Given the description of an element on the screen output the (x, y) to click on. 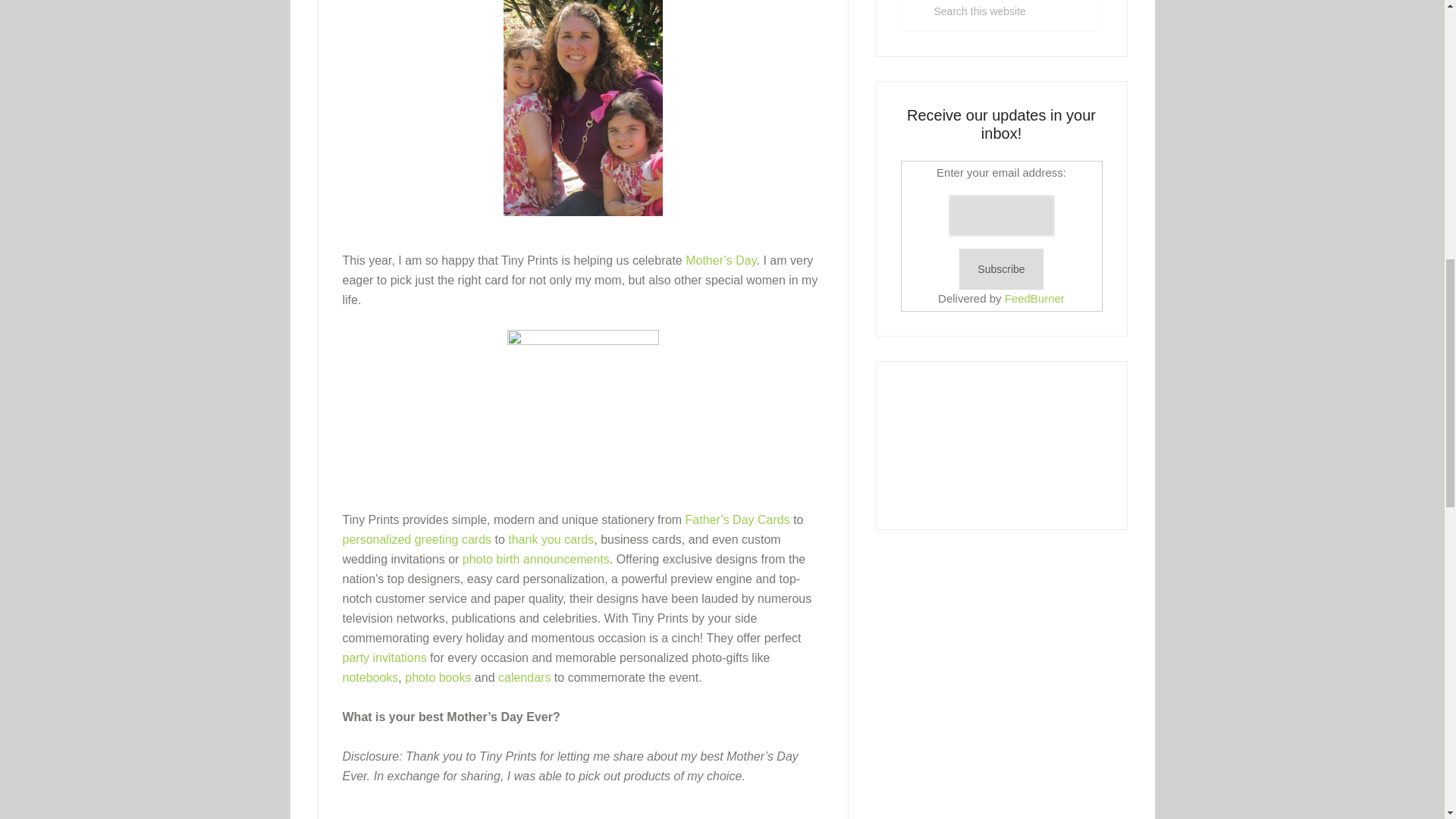
calendars (523, 676)
photo books (437, 676)
notebooks (370, 676)
photo birth announcements (536, 558)
party invitations (384, 657)
tiny prints mothers day (582, 405)
Subscribe (1000, 269)
personalized greeting cards (417, 539)
thank you cards (551, 539)
